Given the description of an element on the screen output the (x, y) to click on. 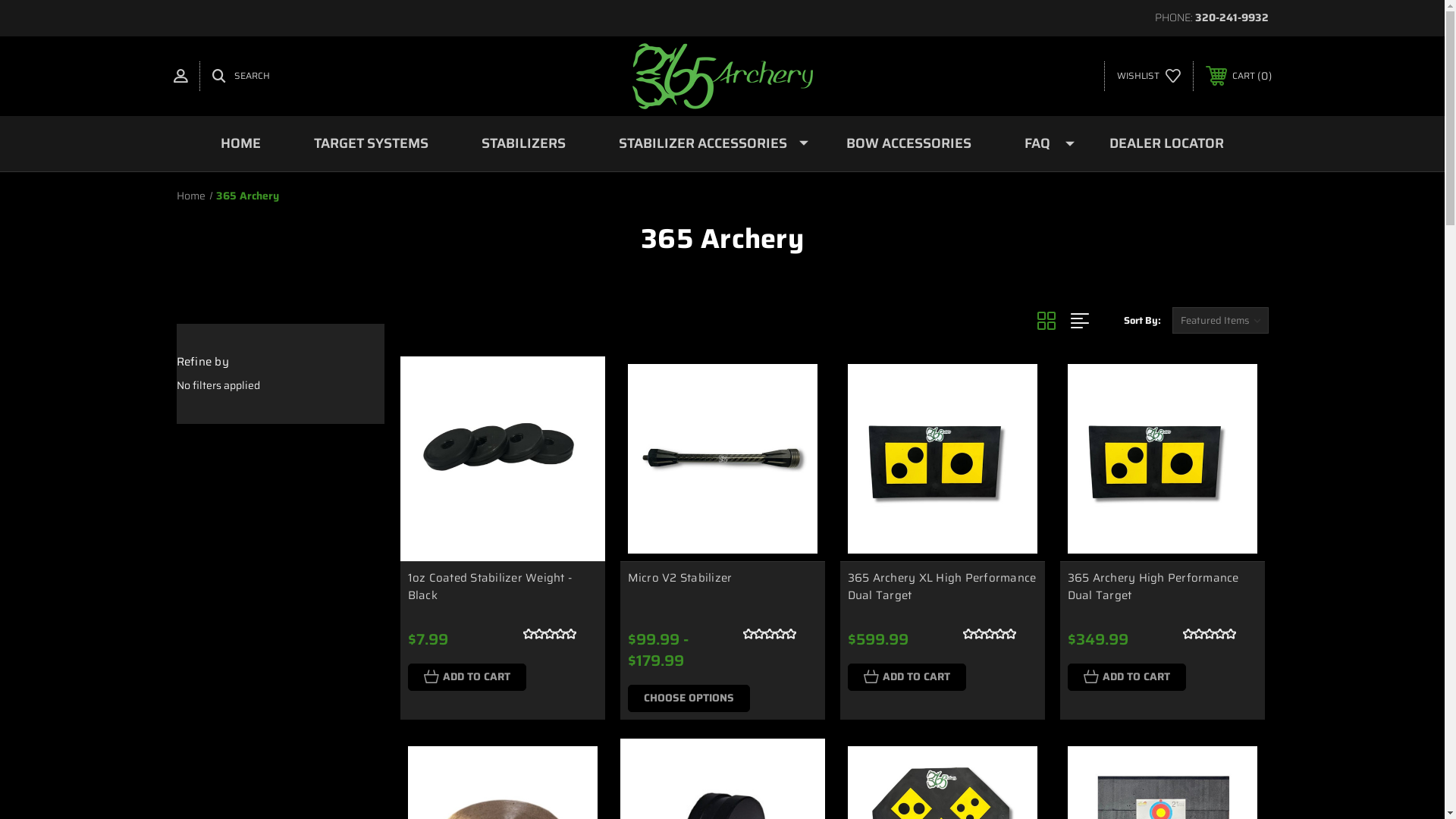
DEALER LOCATOR Element type: text (1166, 143)
365 Archery High Performance Dual Target Element type: hover (1162, 458)
HOME Element type: text (240, 143)
365 Archery Element type: text (247, 195)
WISHLIST Element type: text (1148, 76)
320-241-9932 Element type: text (1231, 17)
365 Archery Element type: hover (722, 76)
Home Element type: text (189, 195)
CHOOSE OPTIONS Element type: text (688, 698)
FAQ Element type: text (1039, 143)
365 Archery XL High Performance Dual Target Element type: hover (942, 458)
TARGET SYSTEMS Element type: text (371, 143)
SEARCH Element type: text (241, 76)
BOW ACCESSORIES Element type: text (908, 143)
STABILIZERS Element type: text (523, 143)
1 oz Phosphate coated black stabilizer weight Element type: hover (502, 458)
STABILIZER ACCESSORIES Element type: text (705, 143)
ADD TO CART Element type: text (466, 676)
365 Archery High Performance Dual Target Element type: text (1153, 586)
ADD TO CART Element type: text (906, 676)
365 Archery XL High Performance Dual Target Element type: text (941, 586)
1oz Coated Stabilizer Weight - Black Element type: text (489, 586)
V2 Bow Stabilizer Element type: hover (722, 458)
ADD TO CART Element type: text (1126, 676)
Micro V2 Stabilizer Element type: text (679, 577)
CART 0 Element type: text (1238, 75)
